Given the description of an element on the screen output the (x, y) to click on. 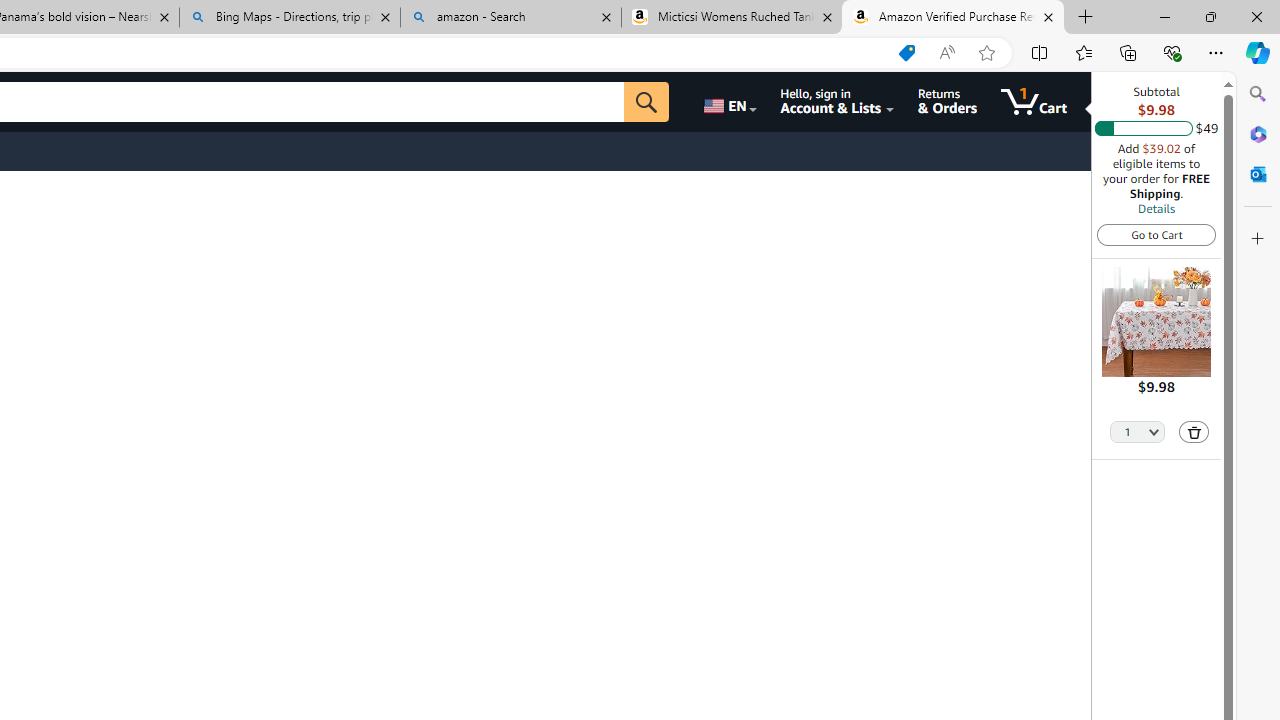
amazon - Search (510, 17)
Go (646, 101)
Delete (1194, 431)
